Given the description of an element on the screen output the (x, y) to click on. 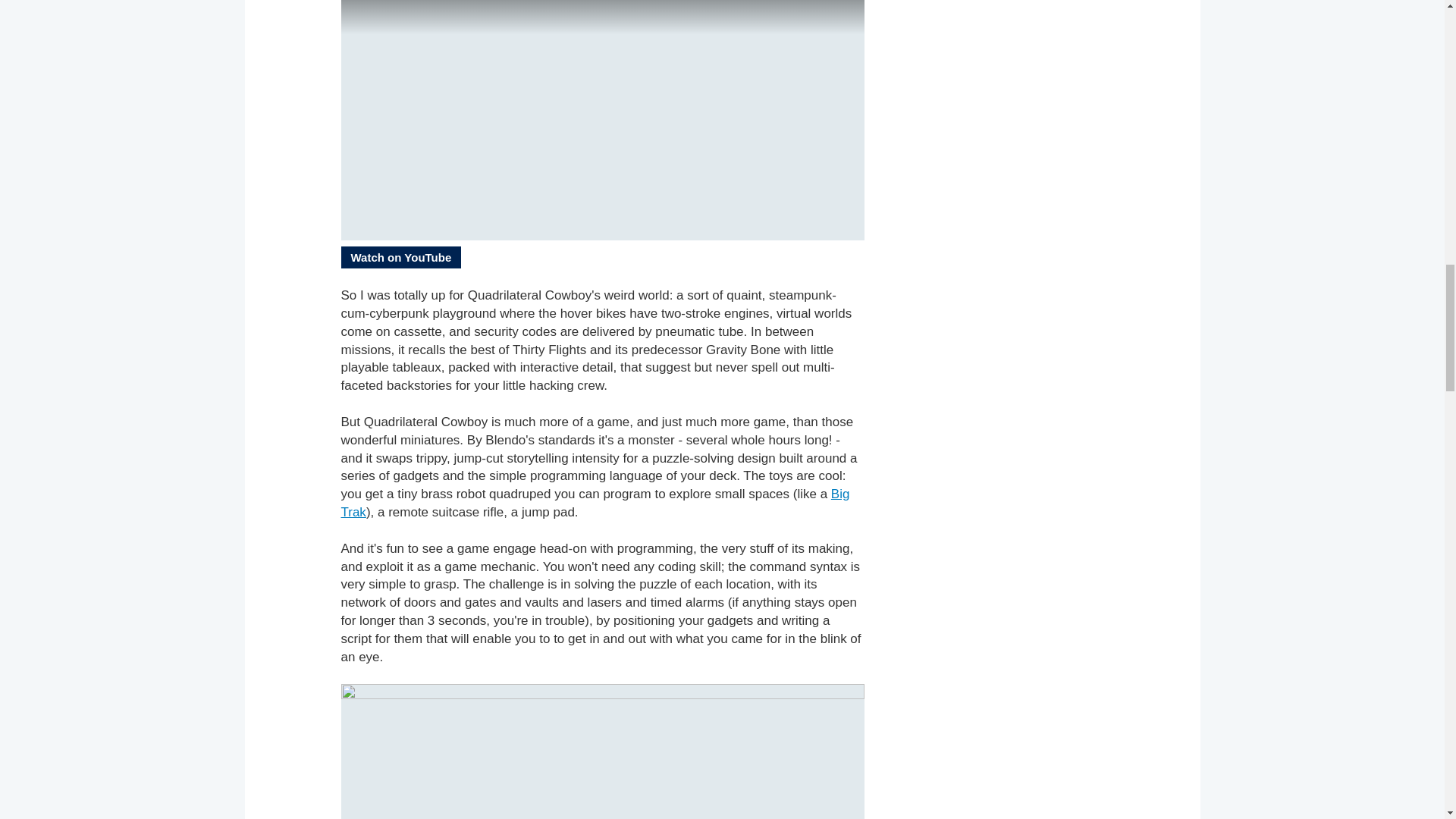
Big Trak (595, 502)
Quadrilateral Cowboy release trailer (602, 120)
Watch on YouTube (400, 257)
